Given the description of an element on the screen output the (x, y) to click on. 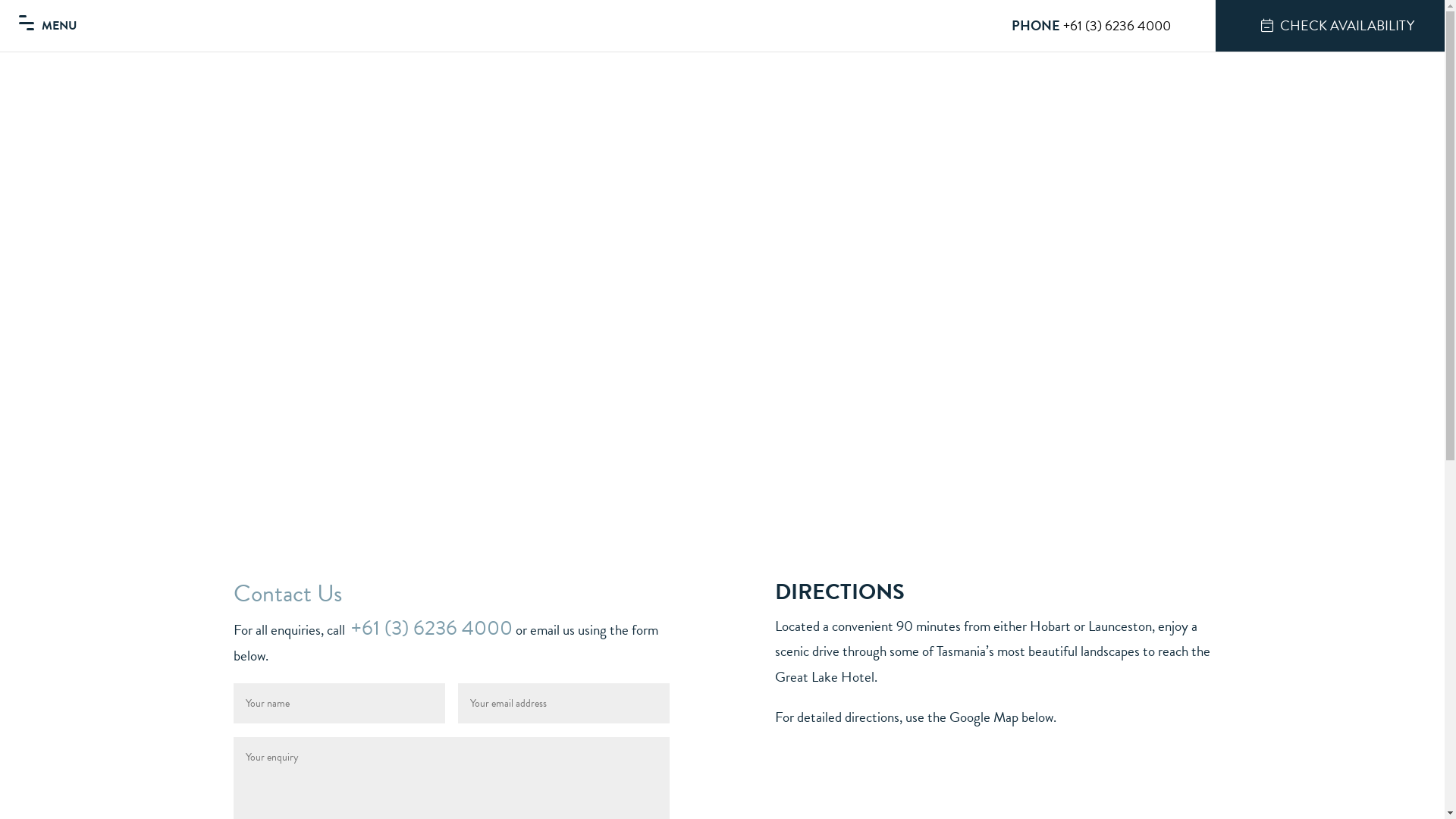
+61 (3) 6236 4000 Element type: text (1118, 25)
  CHECK AVAILABILITY Element type: text (1329, 25)
